Given the description of an element on the screen output the (x, y) to click on. 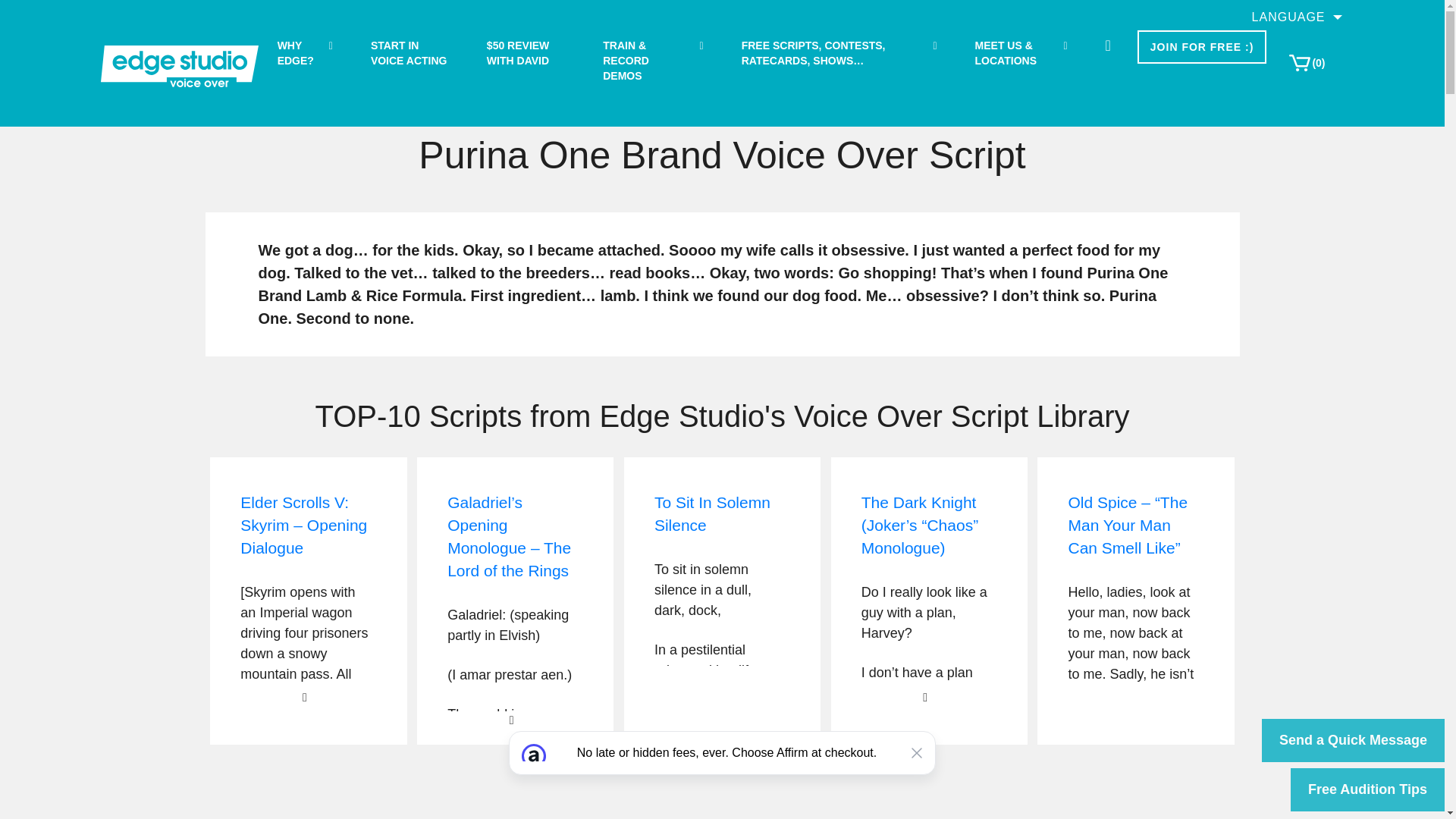
START IN VOICE ACTING (409, 53)
Affirm (721, 775)
